Given the description of an element on the screen output the (x, y) to click on. 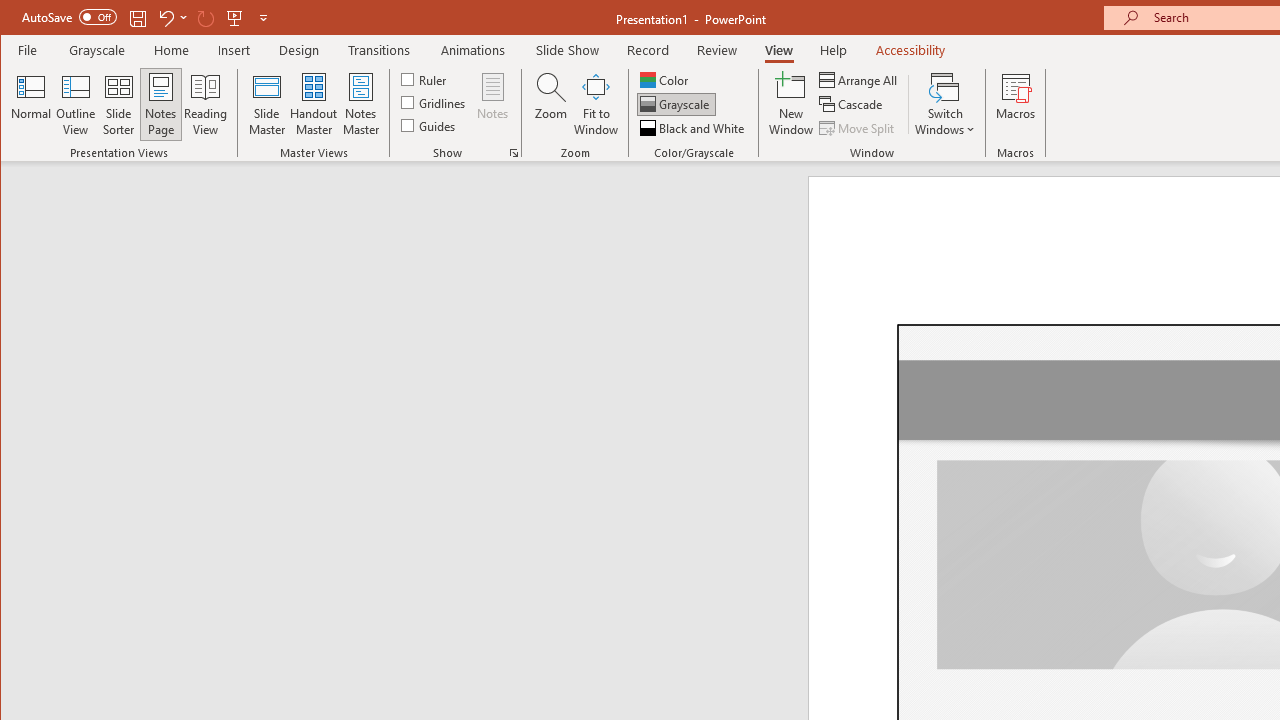
Move Split (858, 127)
Cascade (852, 103)
Gridlines (435, 101)
Notes Page (160, 104)
